Given the description of an element on the screen output the (x, y) to click on. 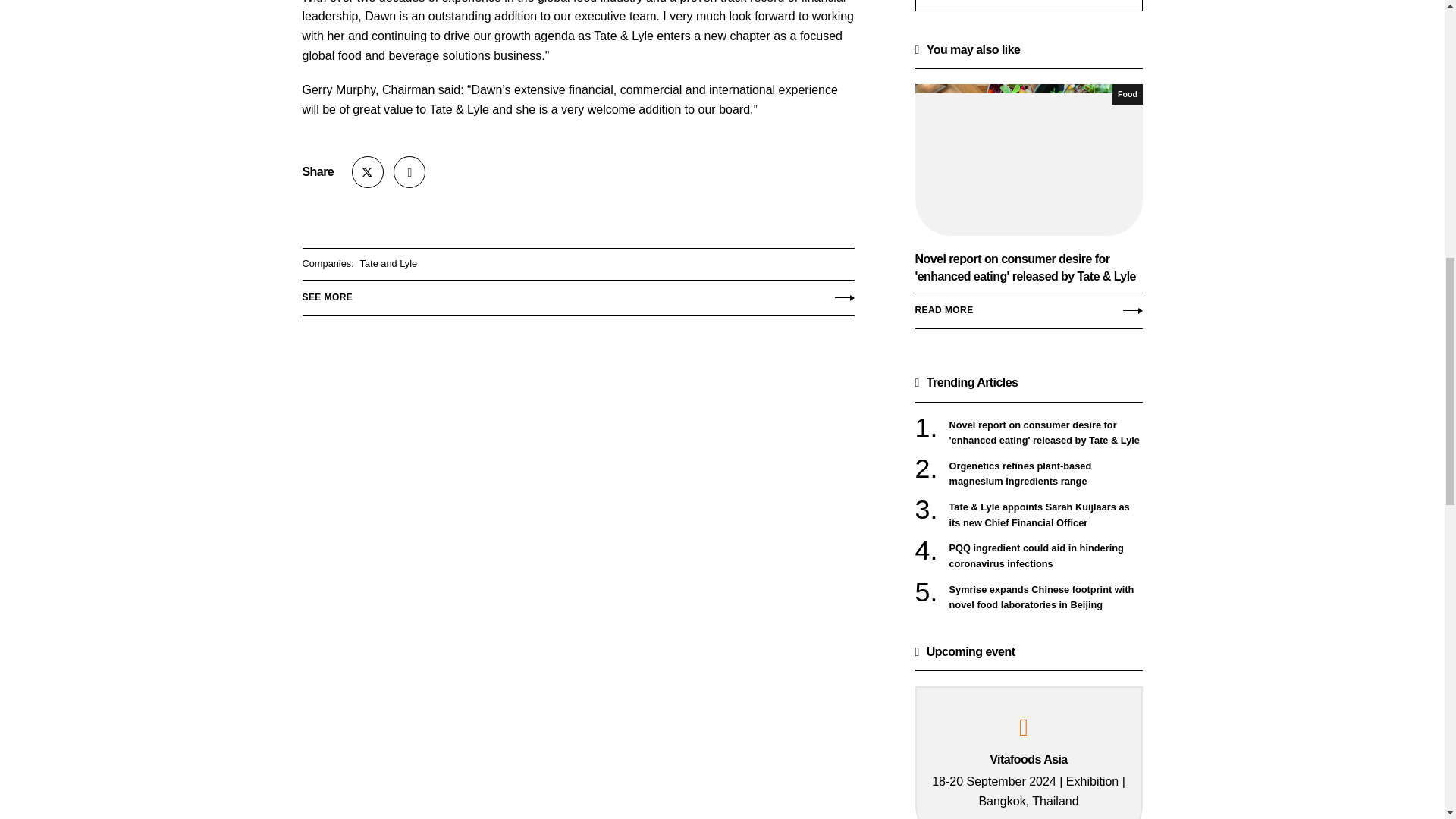
PQQ ingredient could aid in hindering coronavirus infections (1045, 555)
Food (1126, 94)
Orgenetics refines plant-based magnesium ingredients range (1045, 473)
Follow Nutraceutical Business Review on LinkedIn (409, 172)
LinkedIn (409, 172)
SEE MORE (577, 294)
X (368, 172)
Follow Nutraceutical Business Review on X (368, 172)
